Given the description of an element on the screen output the (x, y) to click on. 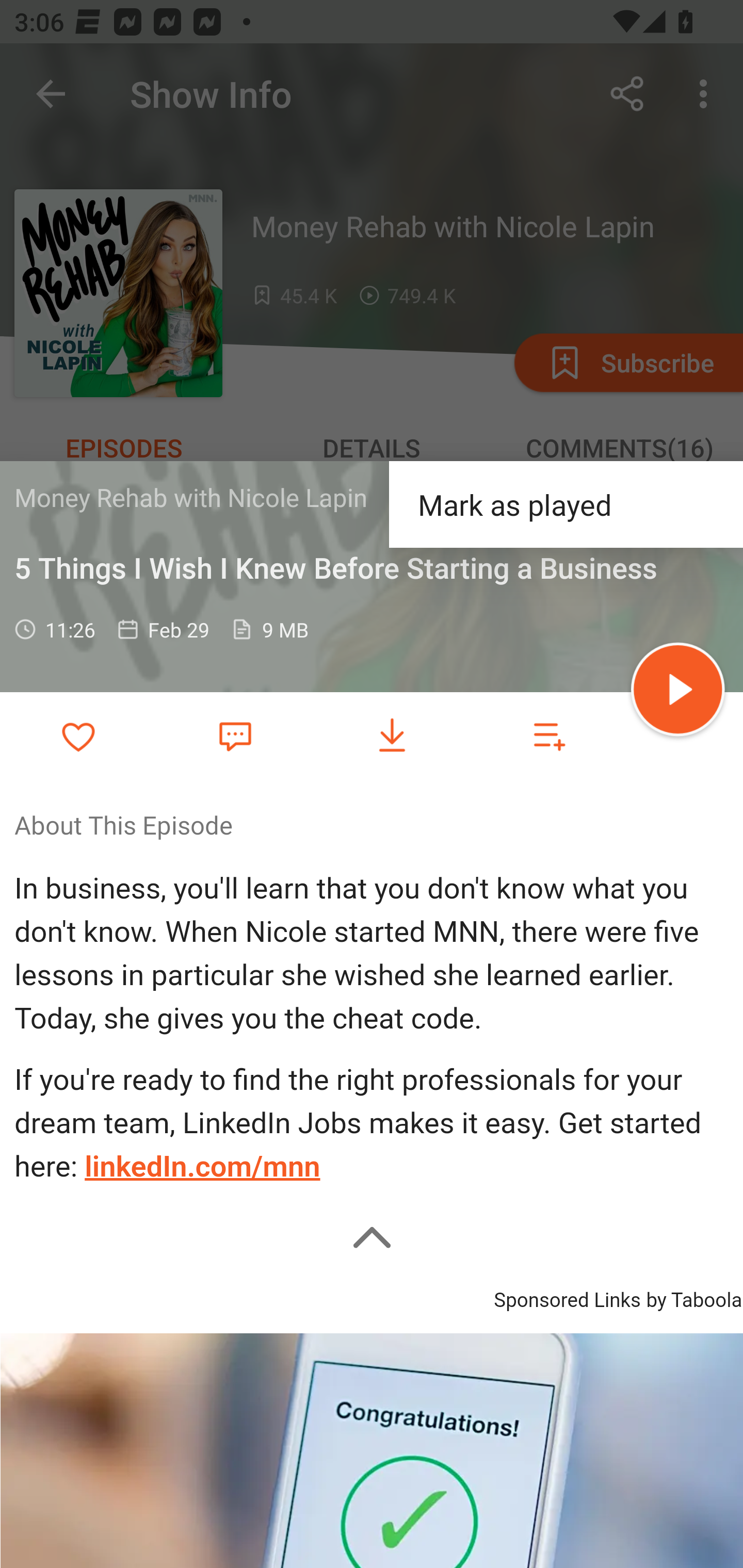
Mark as played (566, 503)
